Given the description of an element on the screen output the (x, y) to click on. 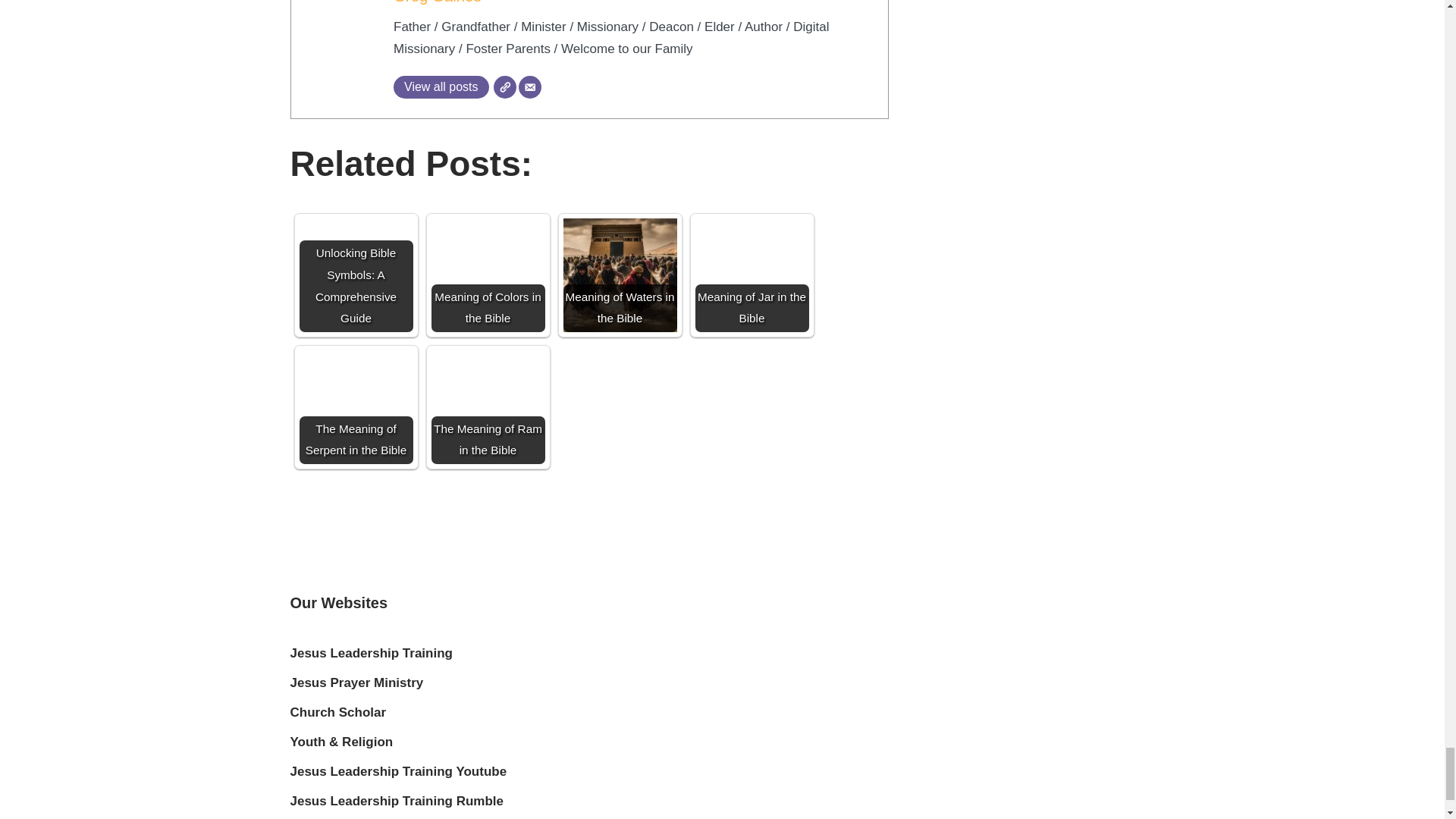
Meaning of Colors in the Bible (487, 275)
The Meaning of Serpent in the Bible (355, 407)
View all posts (441, 87)
Meaning of Waters in the Bible (619, 275)
The Meaning of Ram in the Bible (487, 407)
Greg Gaines (437, 2)
Unlocking Bible Symbols: A Comprehensive Guide (355, 275)
Unlocking Bible Symbols: A Comprehensive Guide (355, 250)
Meaning of Colors in the Bible (487, 275)
Meaning of Jar in the Bible (751, 275)
